Given the description of an element on the screen output the (x, y) to click on. 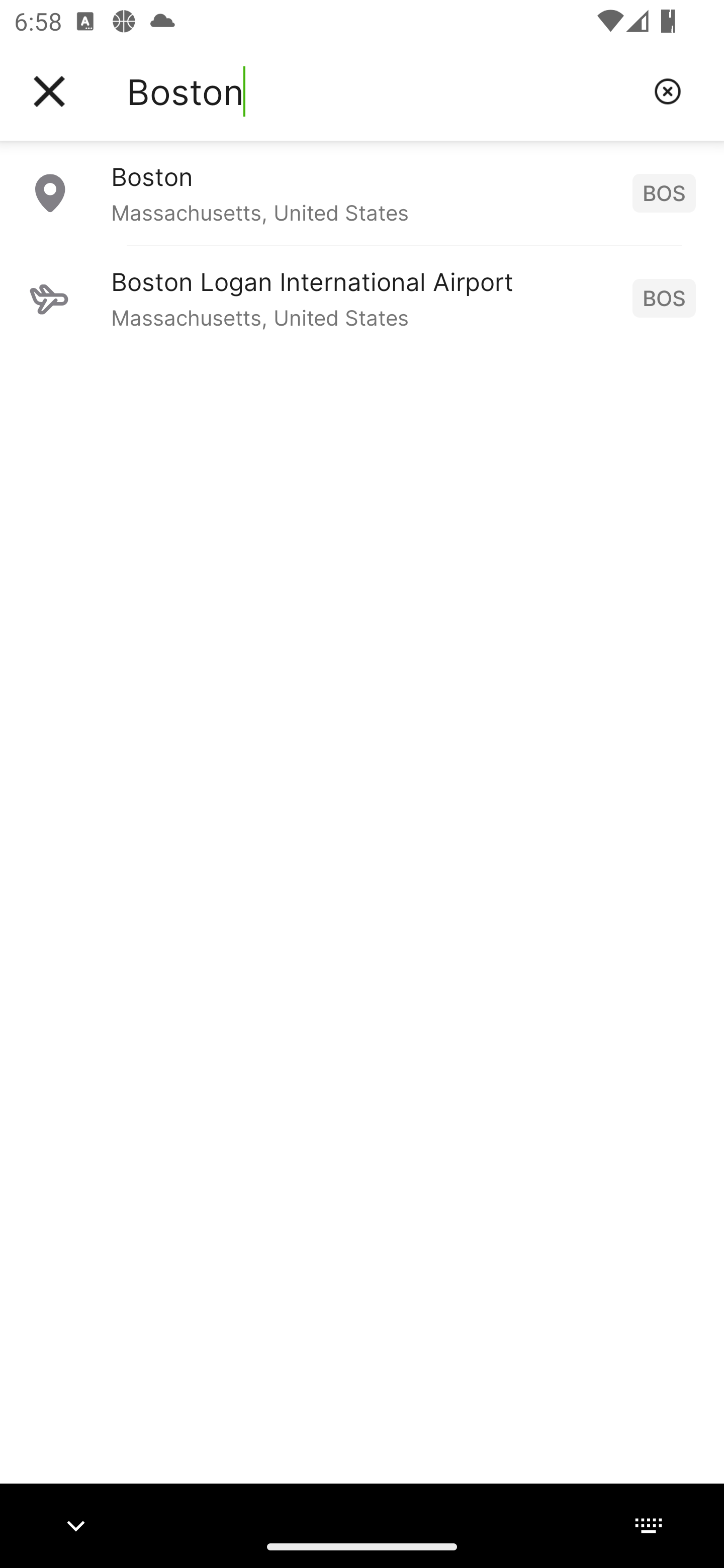
Boston (382, 91)
Boston Massachusetts, United States BOS (362, 192)
